Given the description of an element on the screen output the (x, y) to click on. 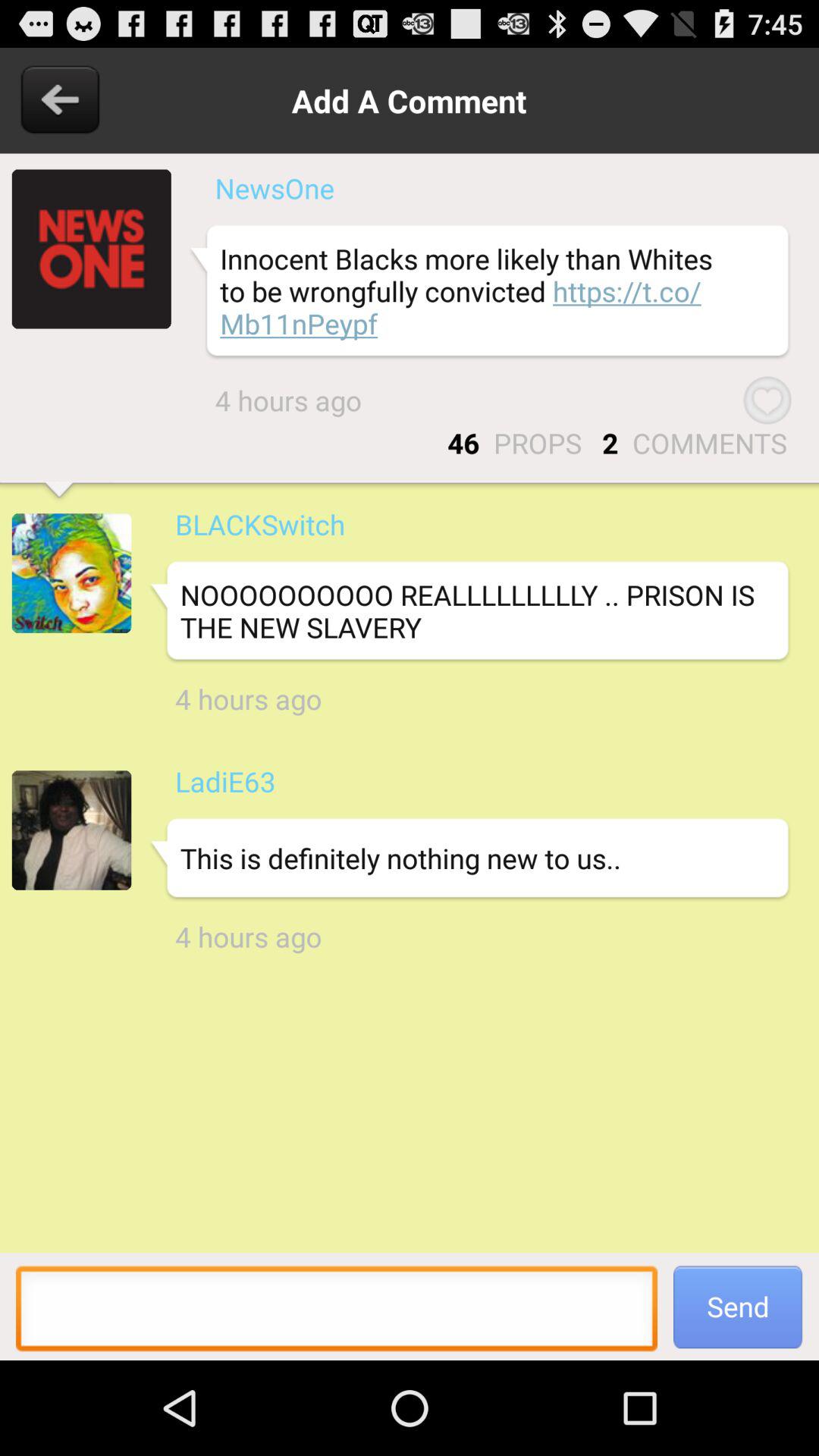
news one (91, 248)
